Given the description of an element on the screen output the (x, y) to click on. 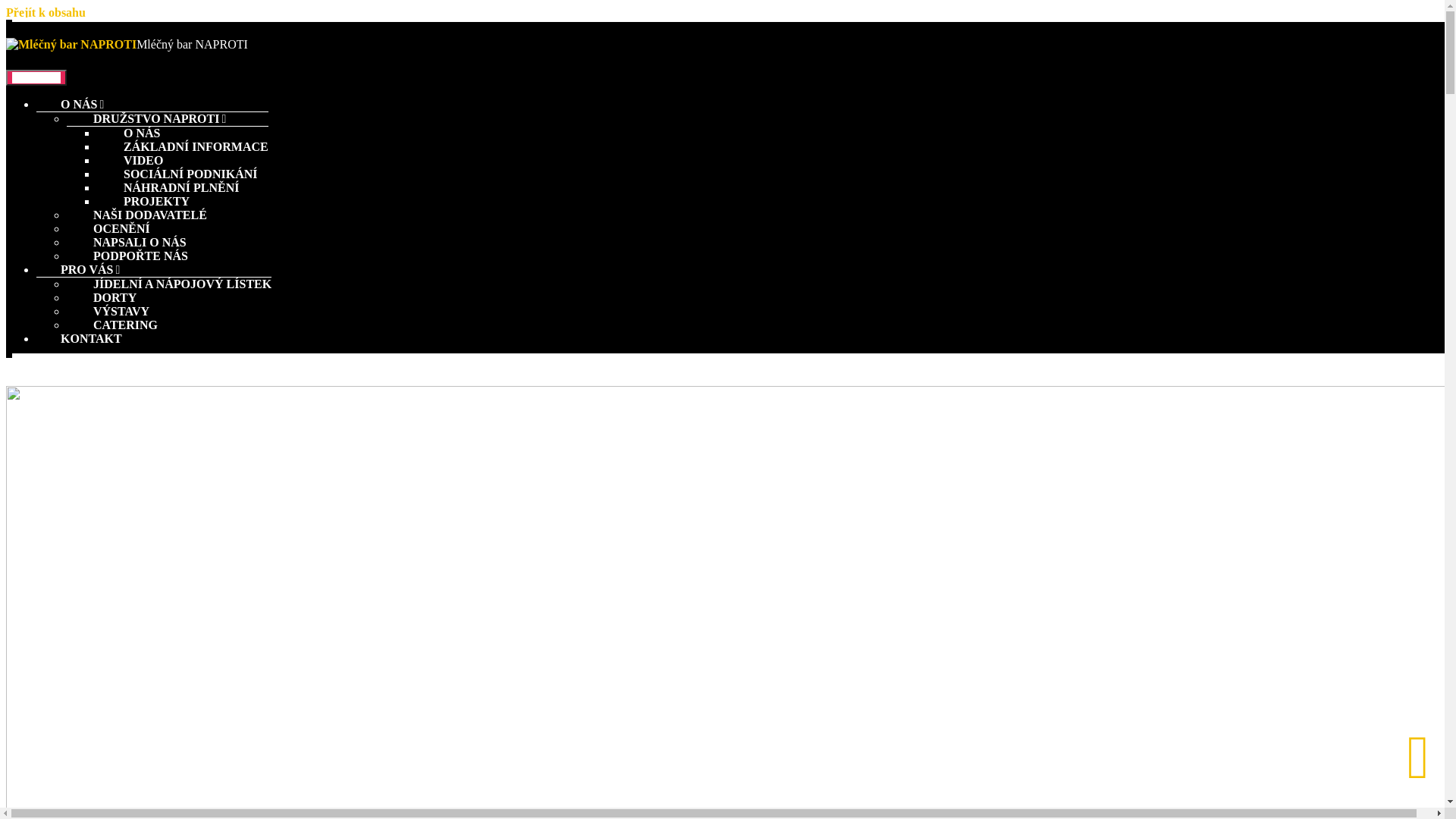
KONTAKT Element type: text (91, 338)
VIDEO Element type: text (130, 159)
Zobrazit podmenu Element type: text (271, 103)
CATERING Element type: text (111, 307)
PROJEKTY Element type: text (143, 184)
KONTAKT Element type: text (66, 320)
Zobrazit podmenu Element type: text (125, 89)
VIDEO Element type: text (130, 143)
DORTY Element type: text (101, 279)
Zobrazit podmenu Element type: text (141, 253)
CATERING Element type: text (111, 324)
PROJEKTY Element type: text (143, 200)
DORTY Element type: text (101, 297)
